Given the description of an element on the screen output the (x, y) to click on. 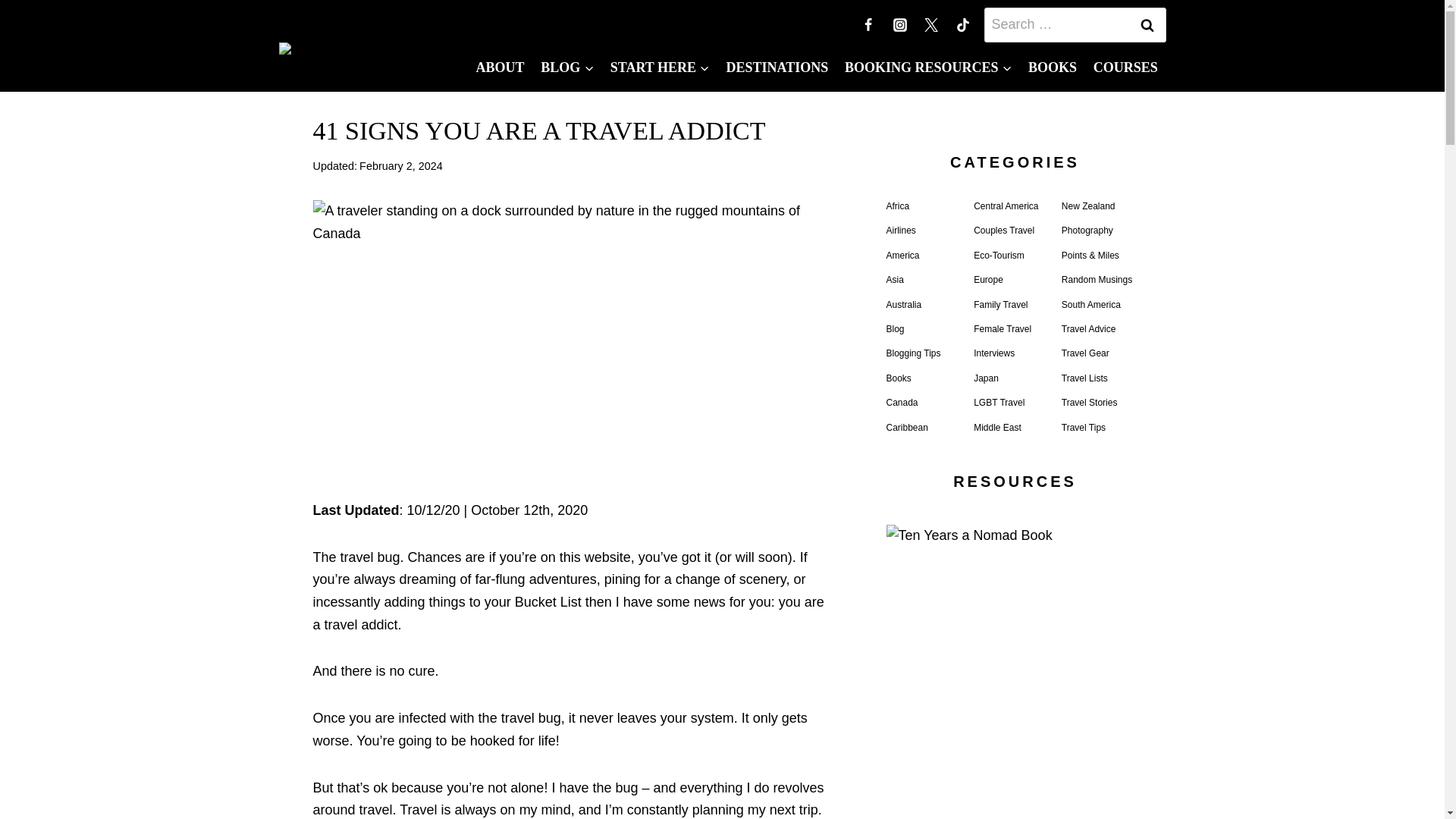
DESTINATIONS (776, 67)
BOOKS (1052, 67)
ABOUT (499, 67)
START HERE (659, 67)
BOOKING RESOURCES (927, 67)
Search (1147, 24)
Search (1147, 24)
COURSES (1125, 67)
BLOG (567, 67)
Search (1147, 24)
